Given the description of an element on the screen output the (x, y) to click on. 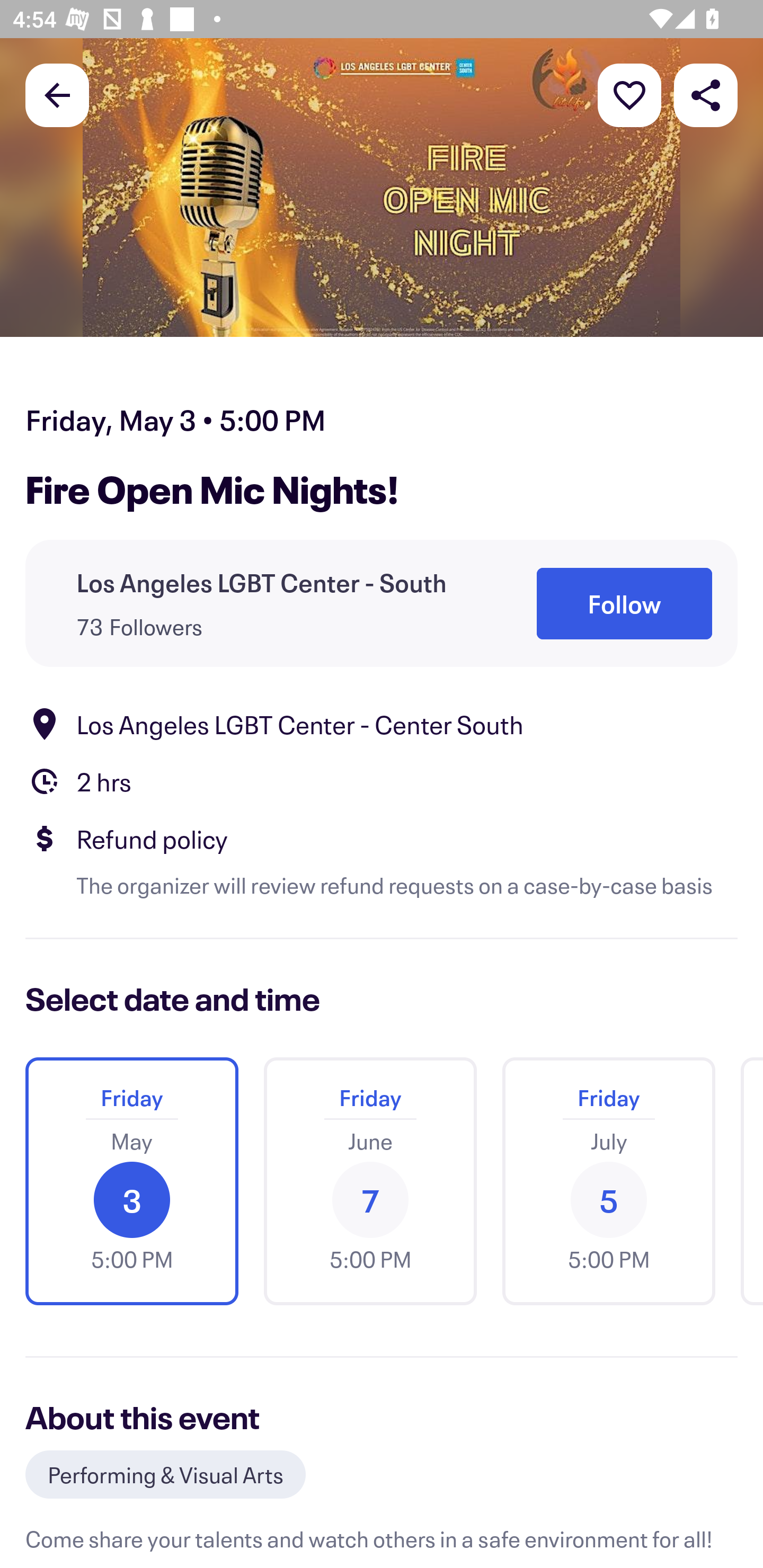
Back (57, 94)
More (629, 94)
Share (705, 94)
Los Angeles LGBT Center - South (261, 582)
Follow (623, 603)
Location Los Angeles LGBT Center - Center South (381, 724)
Friday May 3 5:00 PM (131, 1181)
Friday June 7 5:00 PM (370, 1181)
Friday July 5 5:00 PM (608, 1181)
